Given the description of an element on the screen output the (x, y) to click on. 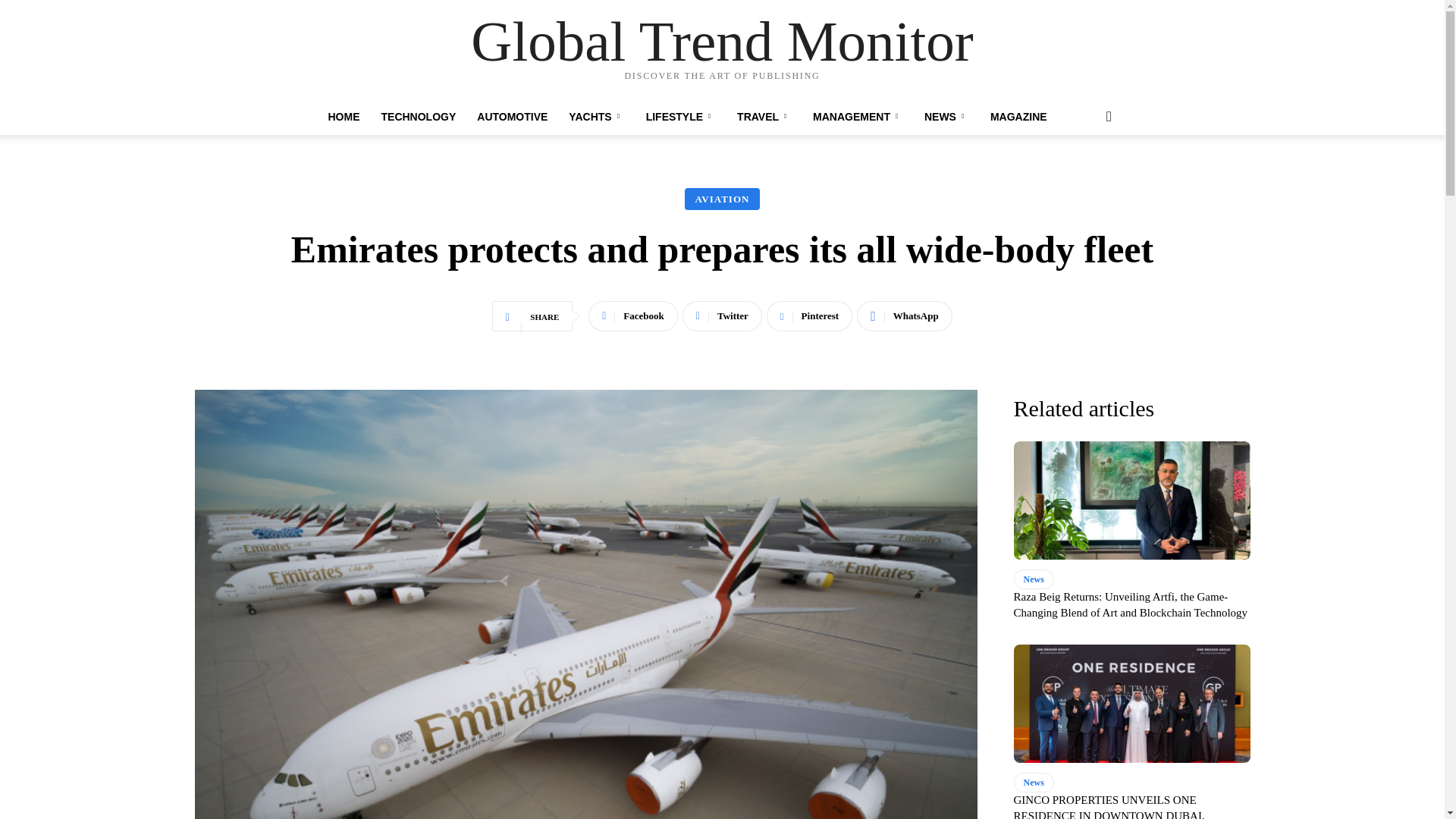
WhatsApp (904, 316)
Pinterest (809, 316)
Facebook (633, 316)
TECHNOLOGY (417, 116)
Twitter (721, 316)
YACHTS (595, 116)
LIFESTYLE (680, 116)
Global Trend Monitor (722, 41)
AUTOMOTIVE (511, 116)
HOME (343, 116)
